Given the description of an element on the screen output the (x, y) to click on. 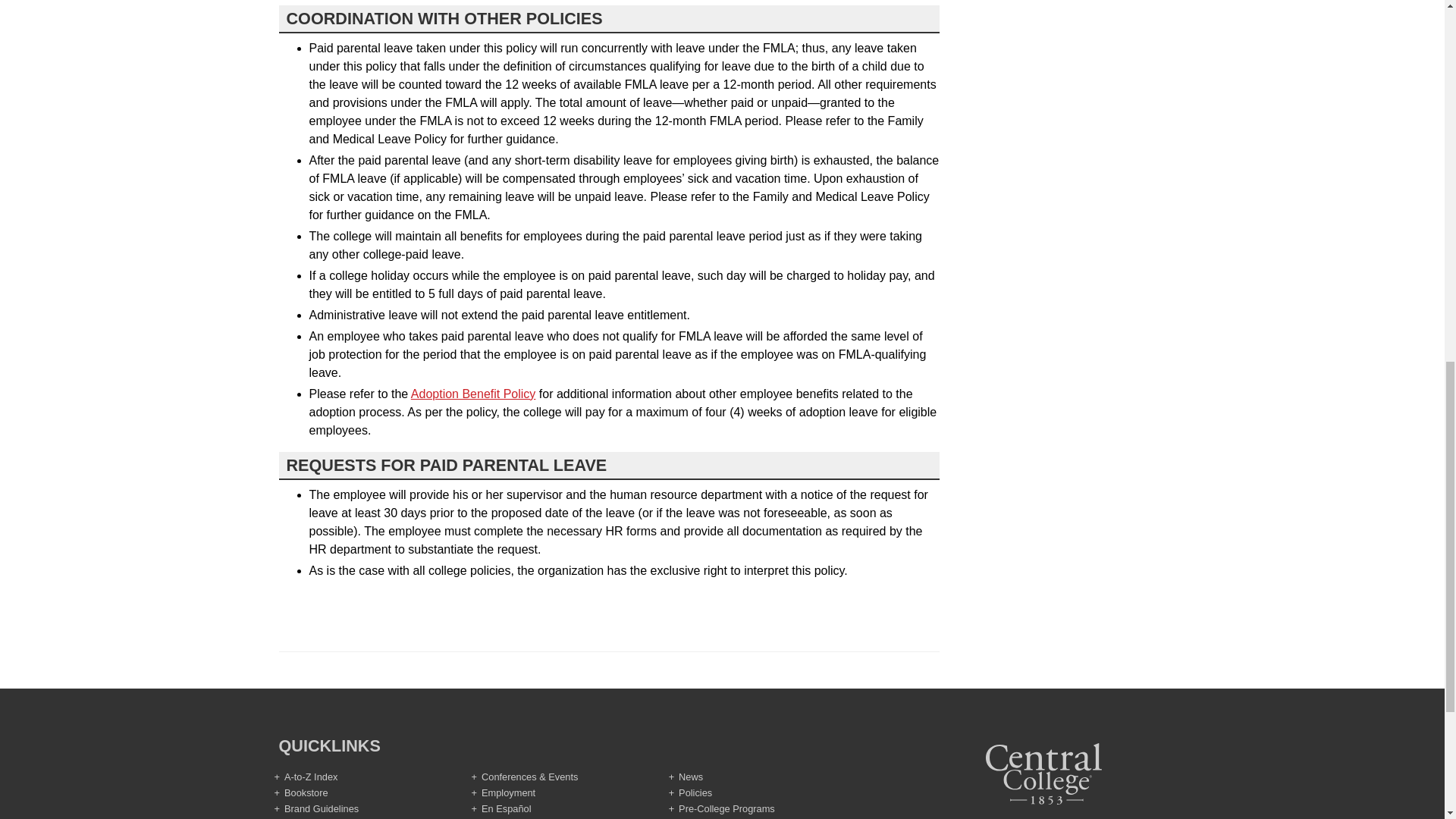
Central College Twitter (1052, 817)
Adoption Benefit Policy (472, 393)
Central College Facebook (1034, 817)
